Given the description of an element on the screen output the (x, y) to click on. 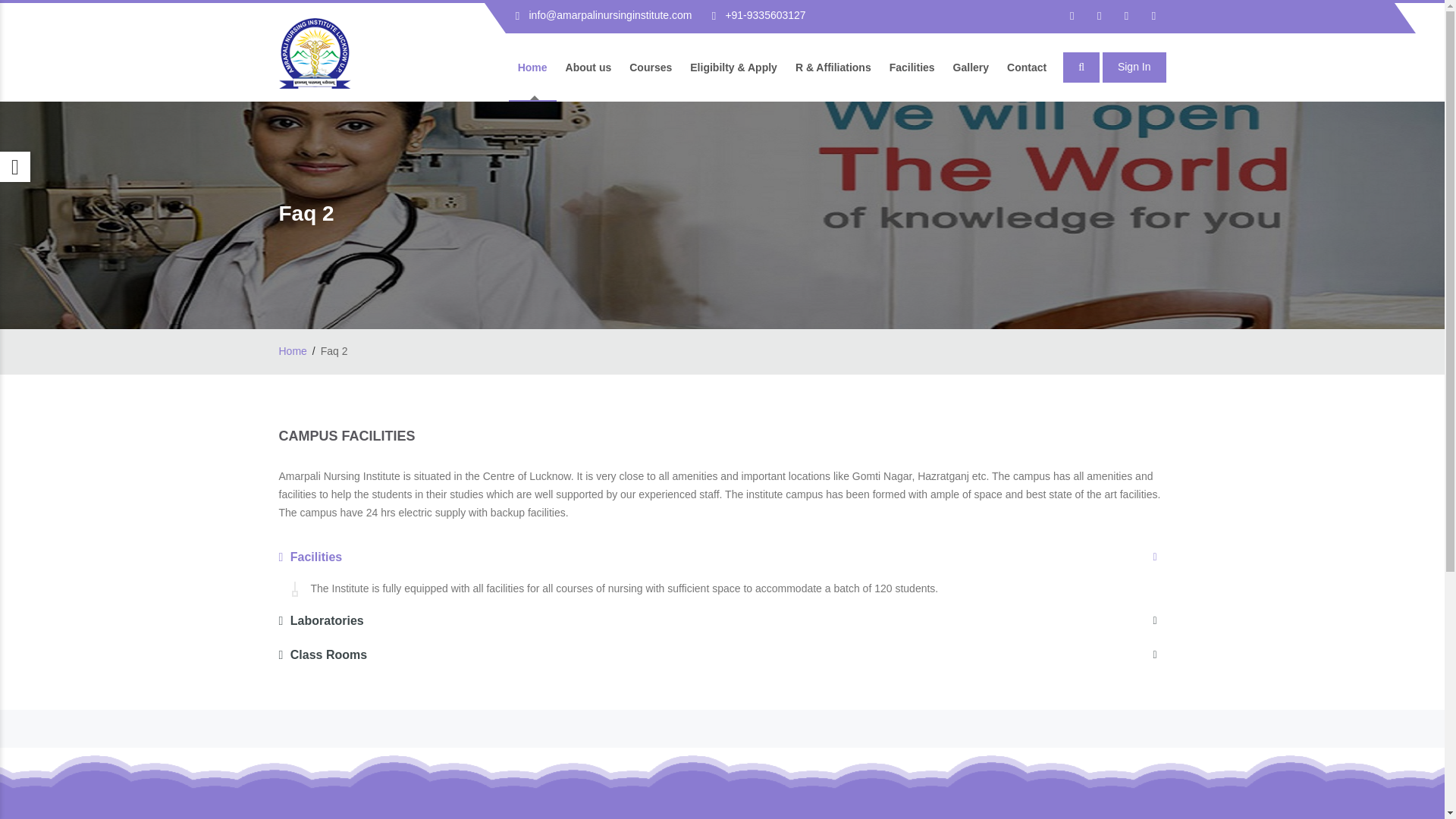
About us (588, 67)
Home (293, 350)
Facilities (722, 556)
Class Rooms (722, 655)
Sign In (1134, 67)
Courses (650, 67)
Laboratories (722, 620)
Facilities (911, 67)
